Given the description of an element on the screen output the (x, y) to click on. 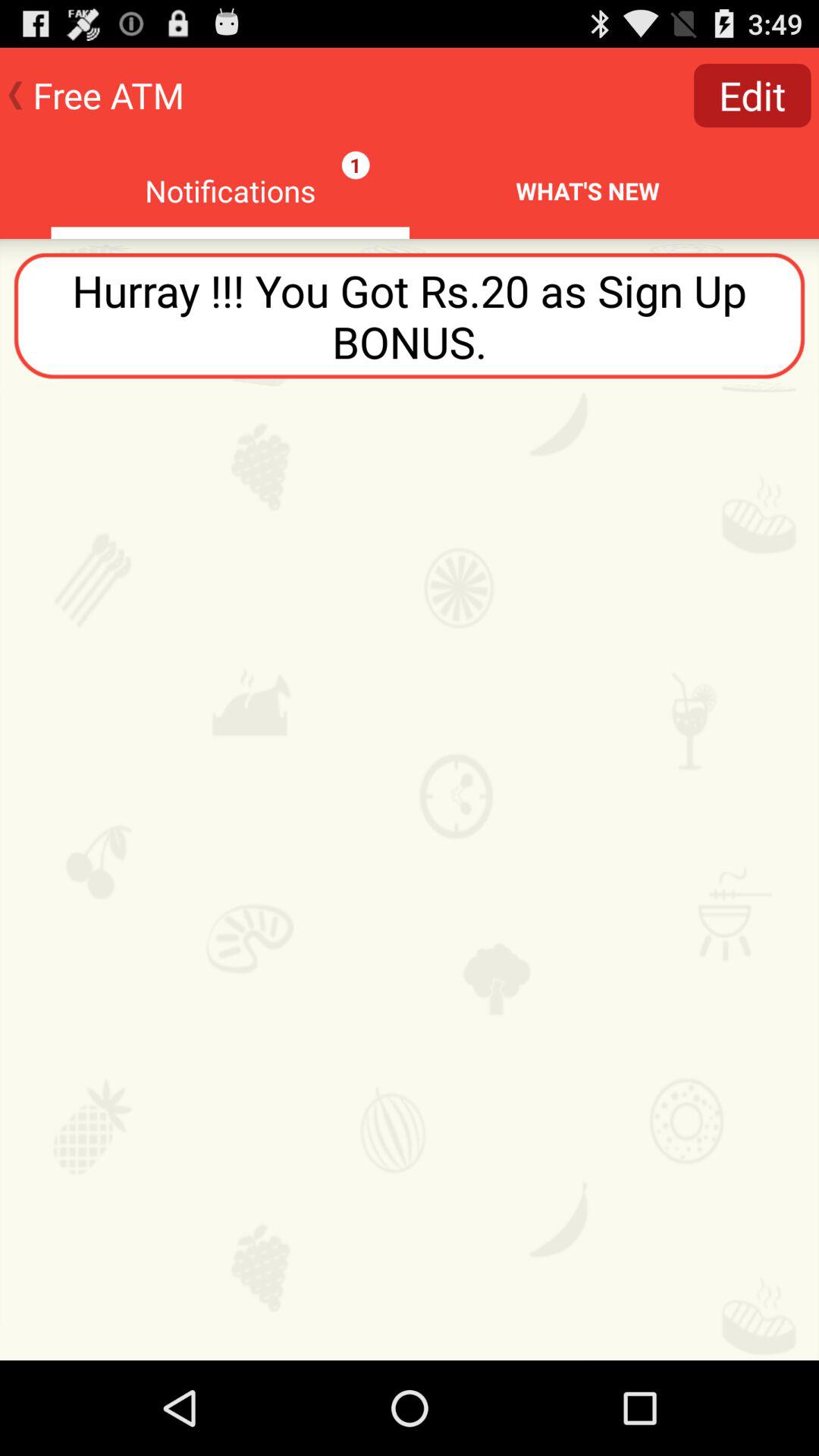
turn on the icon to the right of notifications icon (752, 95)
